Given the description of an element on the screen output the (x, y) to click on. 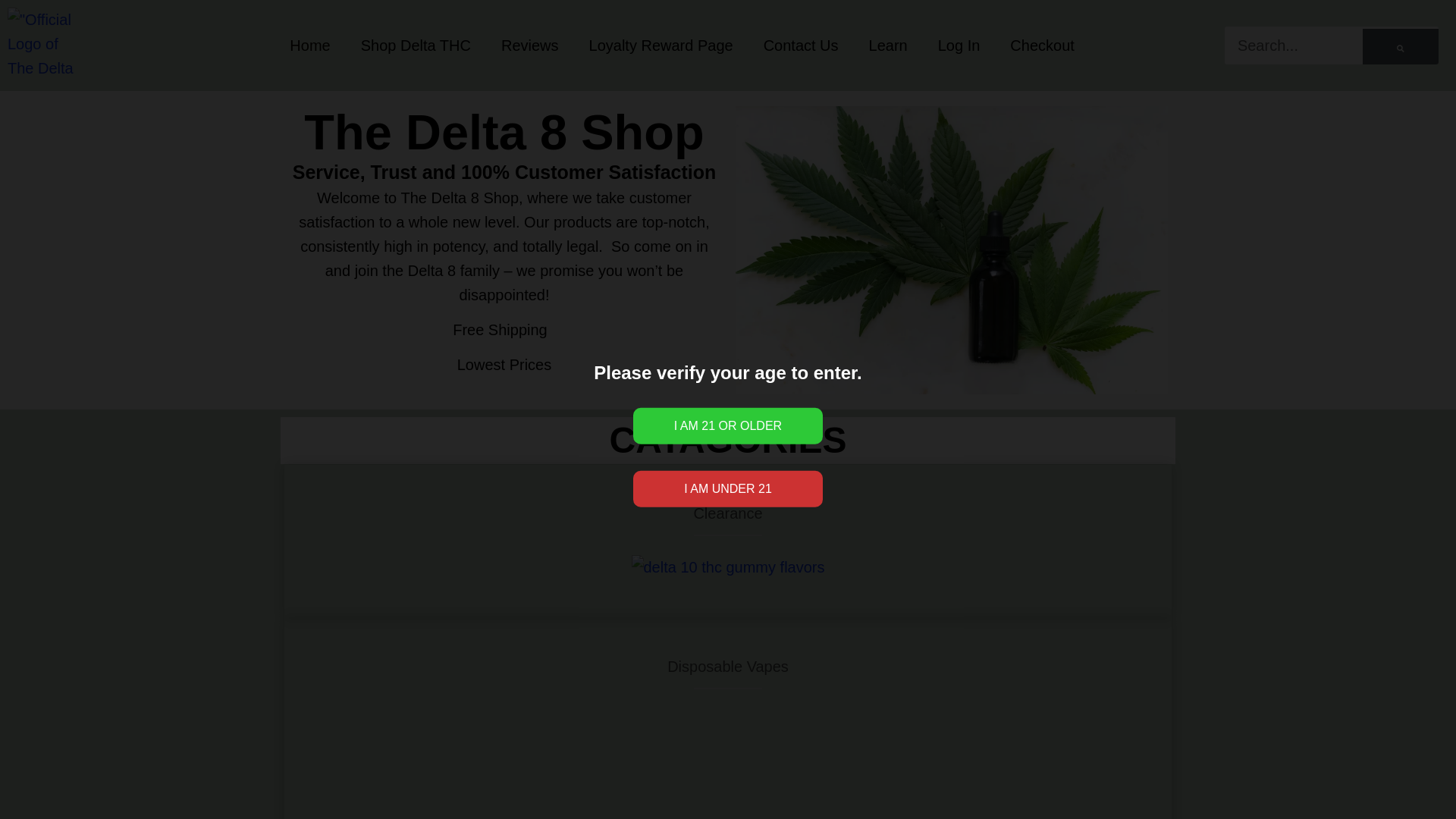
Loyalty Reward Page (660, 45)
Checkout (1041, 45)
Clearance (727, 513)
Contact Us (800, 45)
Learn (888, 45)
I am under 21 (727, 488)
Reviews (529, 45)
I am 21 or older (727, 425)
Log In (959, 45)
Home (310, 45)
